Given the description of an element on the screen output the (x, y) to click on. 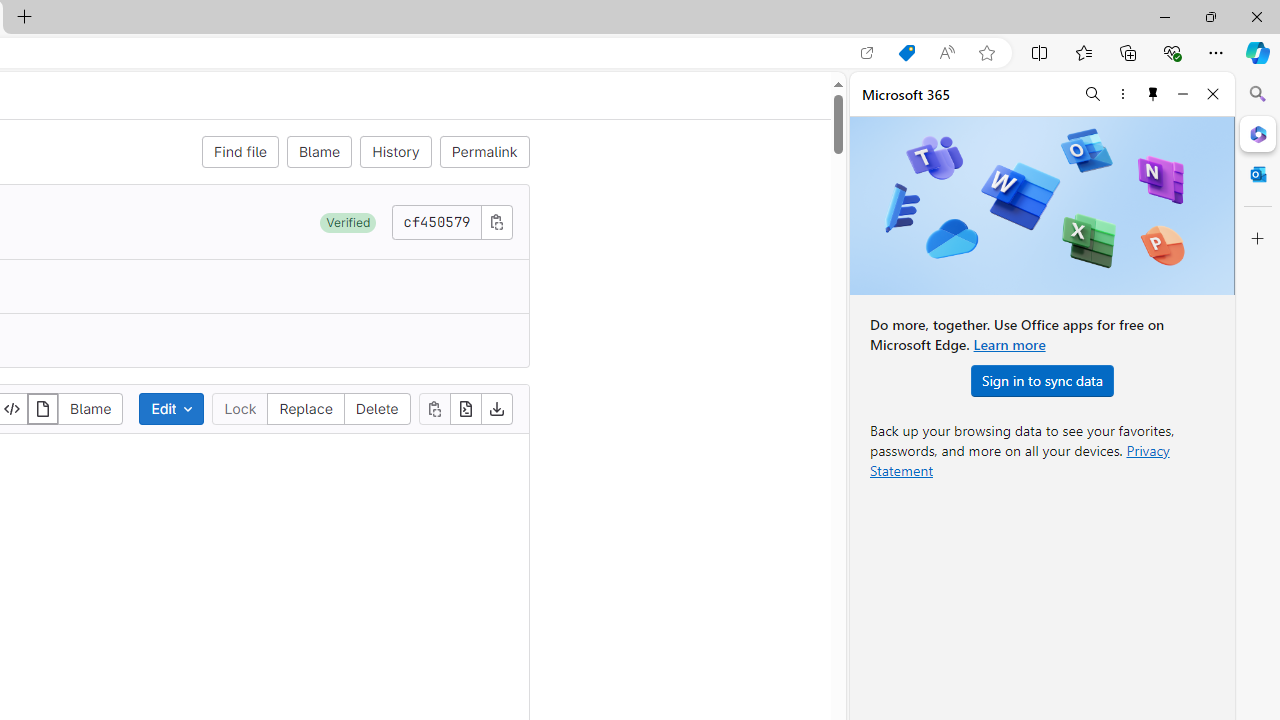
Find file (240, 151)
Lock (240, 408)
Delete (376, 408)
Open in app (867, 53)
Permalink (484, 151)
Sign in to sync data (1042, 380)
